Given the description of an element on the screen output the (x, y) to click on. 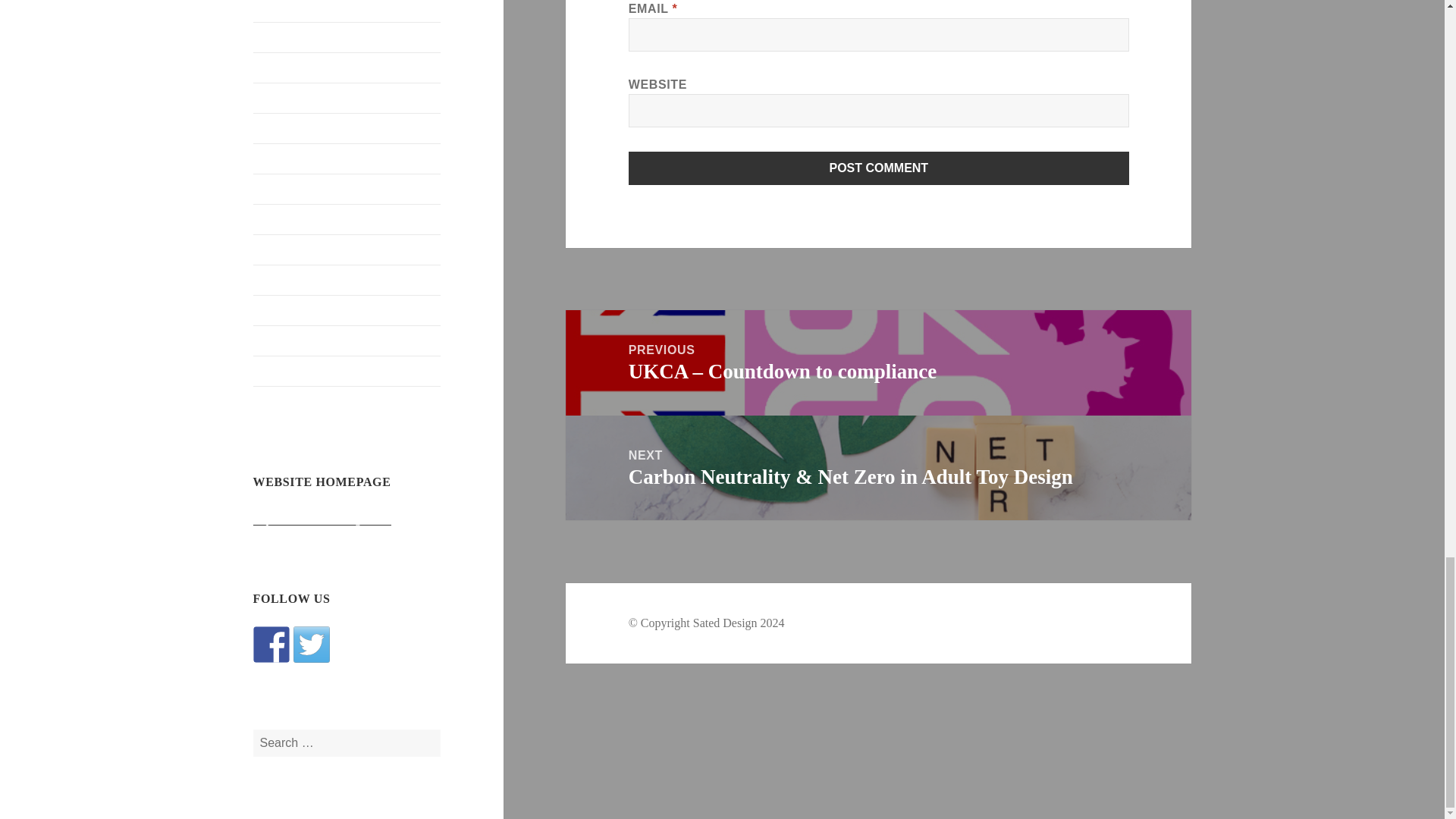
Follow us on Facebook (271, 644)
Follow us on Twitter (312, 644)
Post Comment (878, 168)
